Given the description of an element on the screen output the (x, y) to click on. 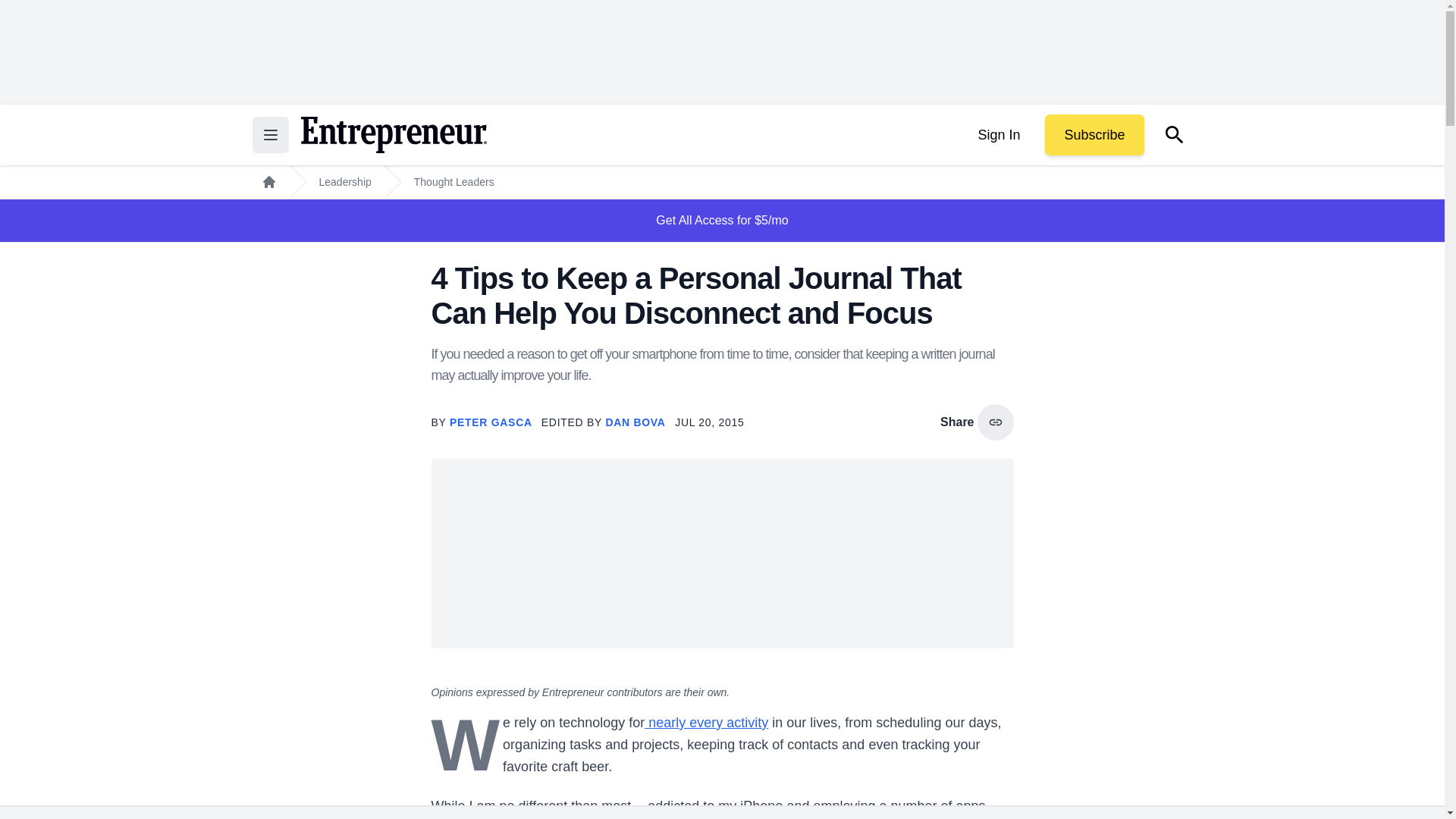
Subscribe (1093, 134)
copy (994, 422)
Sign In (998, 134)
Return to the home page (392, 135)
